Given the description of an element on the screen output the (x, y) to click on. 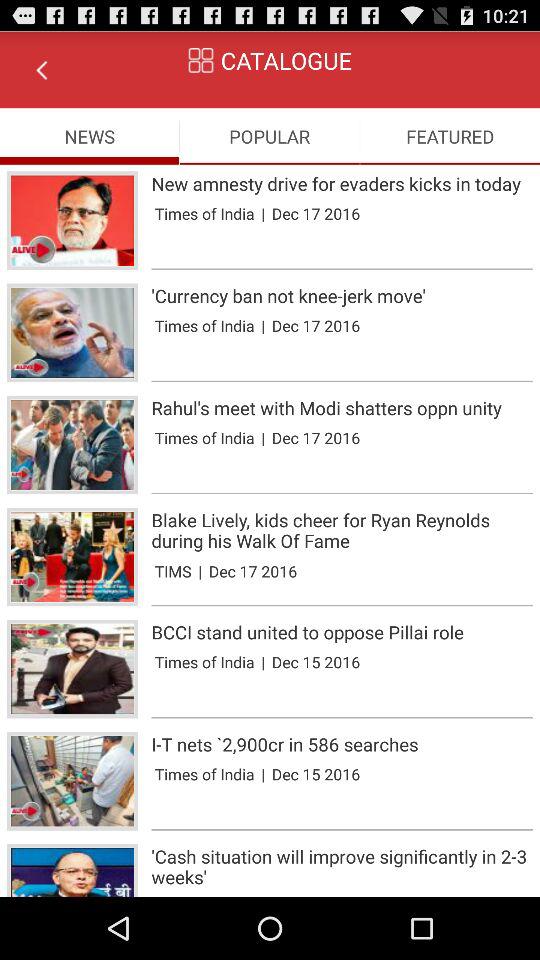
press the app to the left of dec 17 2016 (263, 213)
